Given the description of an element on the screen output the (x, y) to click on. 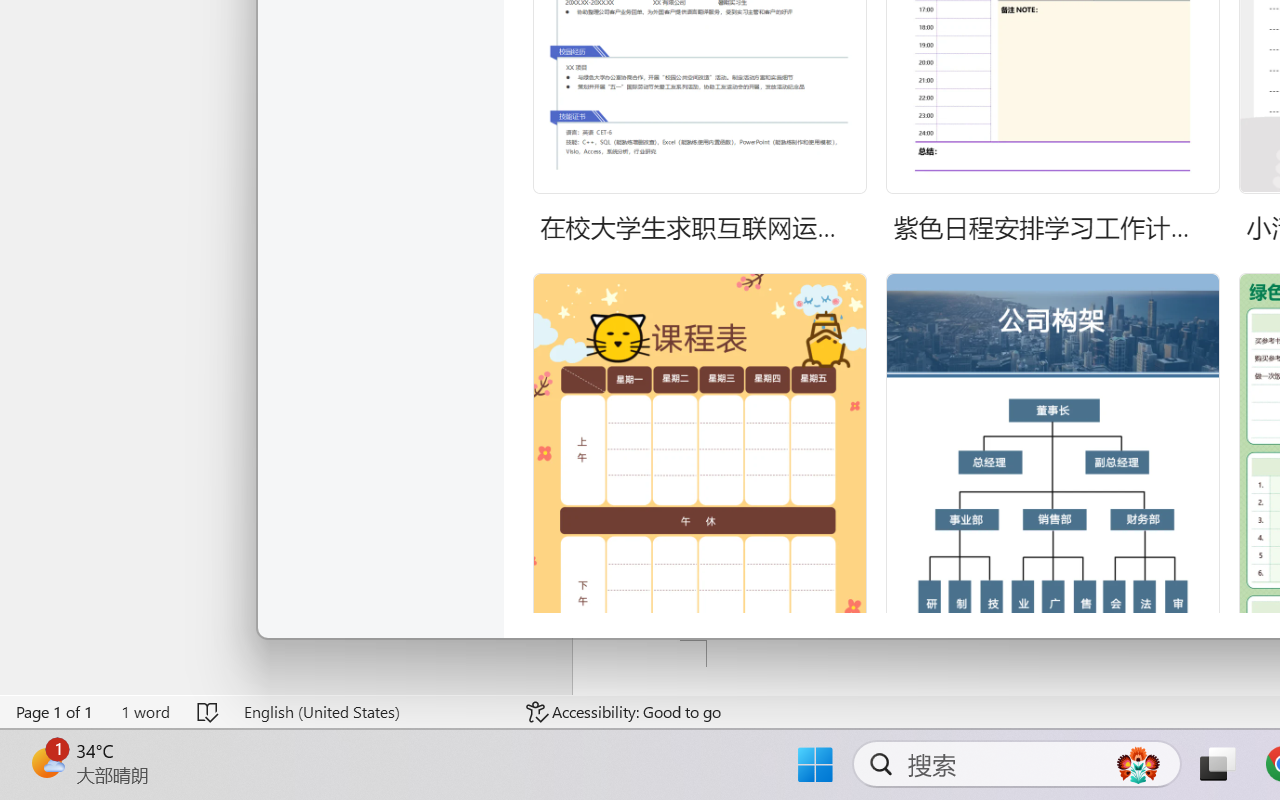
AutomationID: DynamicSearchBoxGleamImage (1138, 764)
Page Number Page 1 of 1 (55, 712)
AutomationID: BadgeAnchorLargeTicker (46, 762)
Accessibility Checker Accessibility: Good to go (623, 712)
Language English (United States) (370, 712)
Word Count 1 word (145, 712)
